Given the description of an element on the screen output the (x, y) to click on. 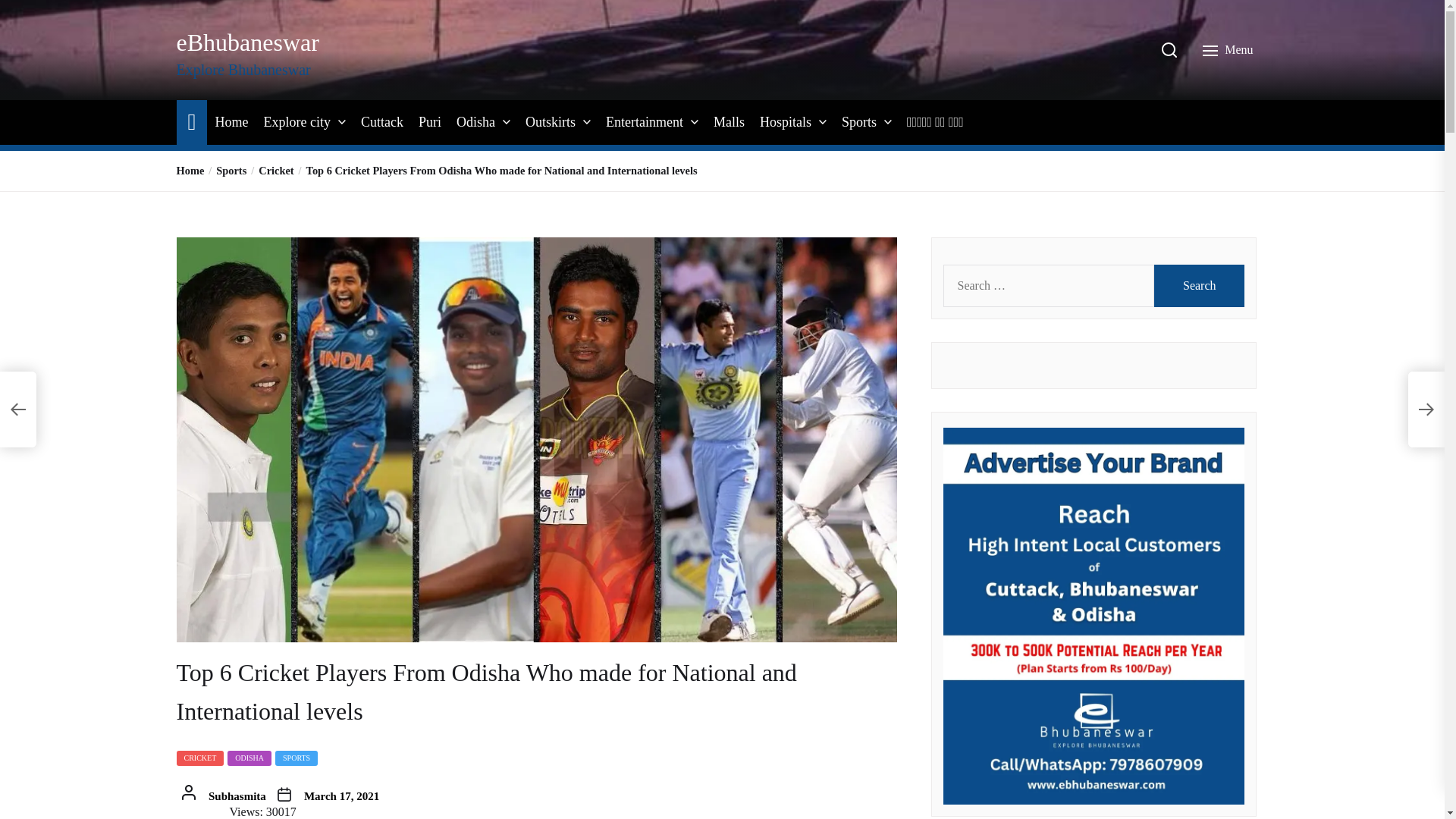
Explore city (296, 122)
Menu (1229, 50)
Home (230, 122)
Search (1199, 285)
Outskirts (550, 122)
eBhubaneswar (247, 42)
Cuttack (382, 122)
Search (1199, 285)
Odisha (476, 122)
Puri (430, 122)
